Given the description of an element on the screen output the (x, y) to click on. 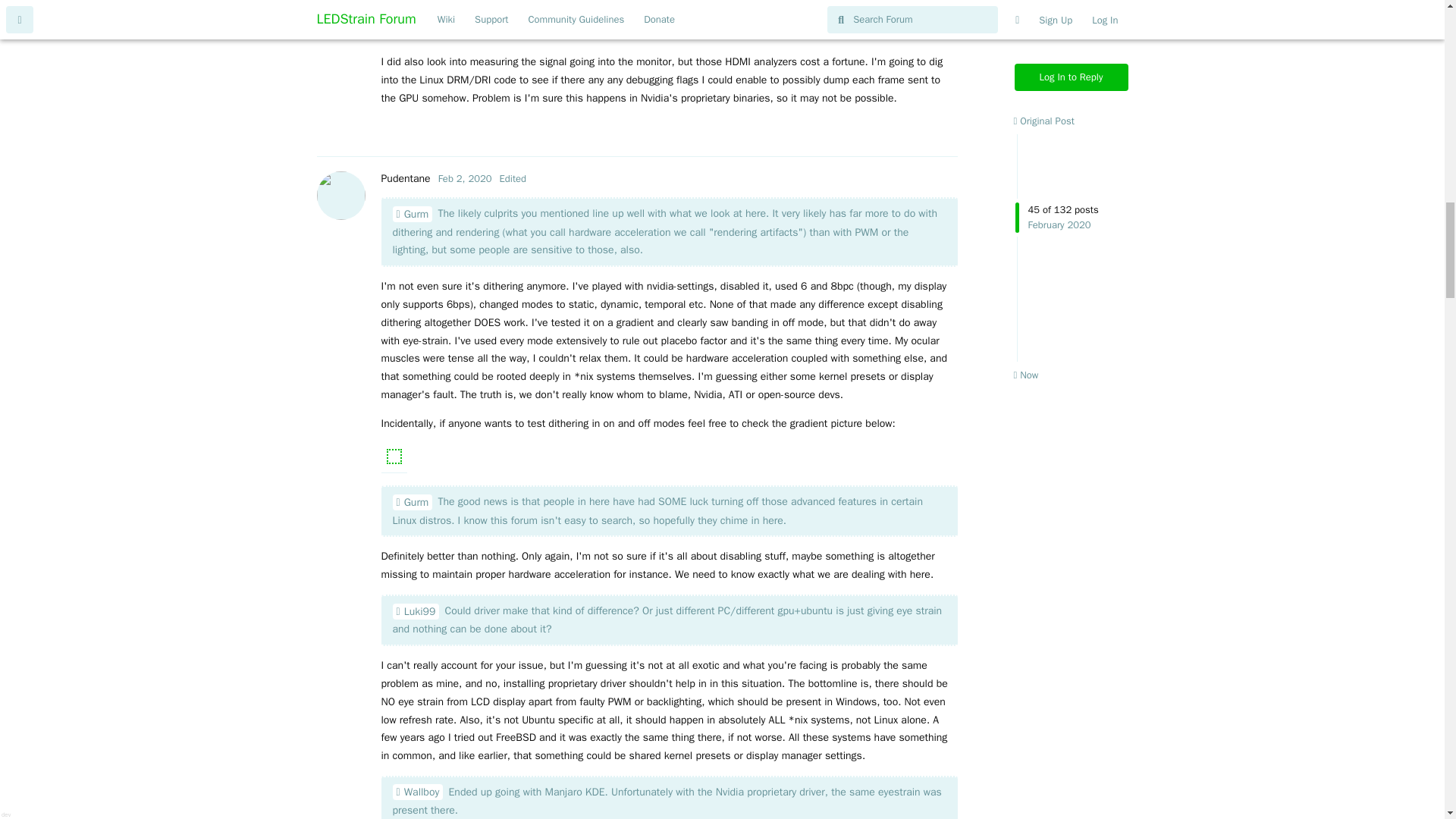
Sunday, February 2, 2020 4:08 PM (465, 178)
